Given the description of an element on the screen output the (x, y) to click on. 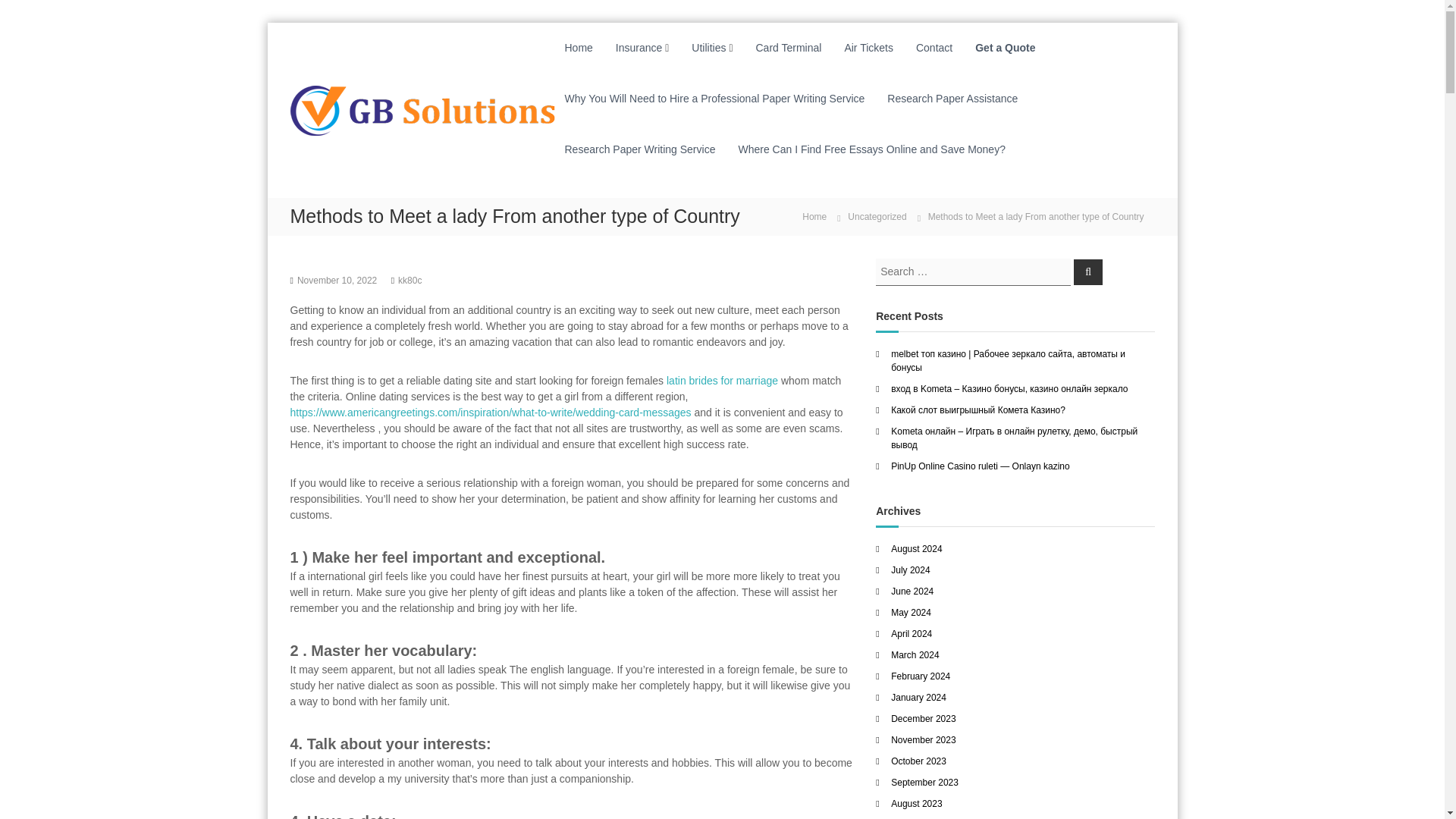
Research Paper Writing Service (639, 149)
Home (578, 47)
Card Terminal (788, 47)
Air Tickets (868, 47)
Uncategorized (876, 216)
Utilities (708, 47)
latin brides for marriage (721, 380)
November 10, 2022 (337, 279)
Home (814, 215)
Insurance (638, 47)
